Given the description of an element on the screen output the (x, y) to click on. 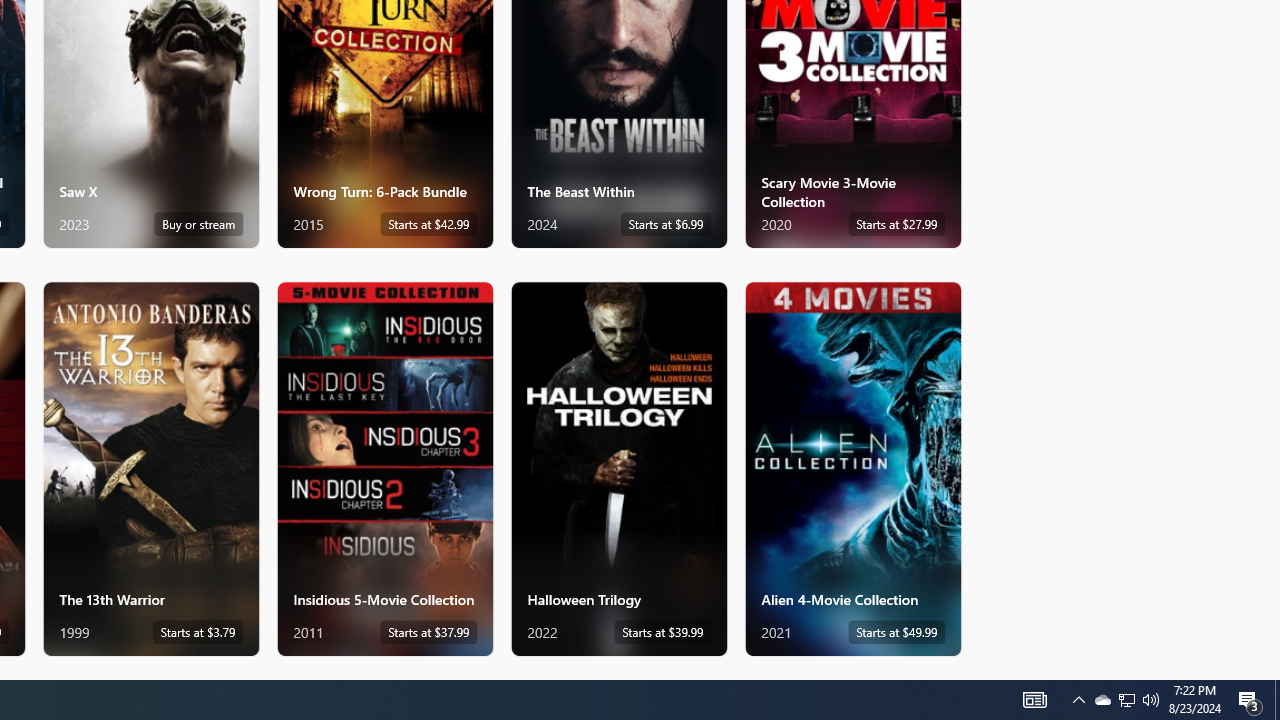
The 13th Warrior. Starts at $3.79   (150, 468)
Alien 4-Movie Collection. Starts at $49.99   (852, 468)
